Given the description of an element on the screen output the (x, y) to click on. 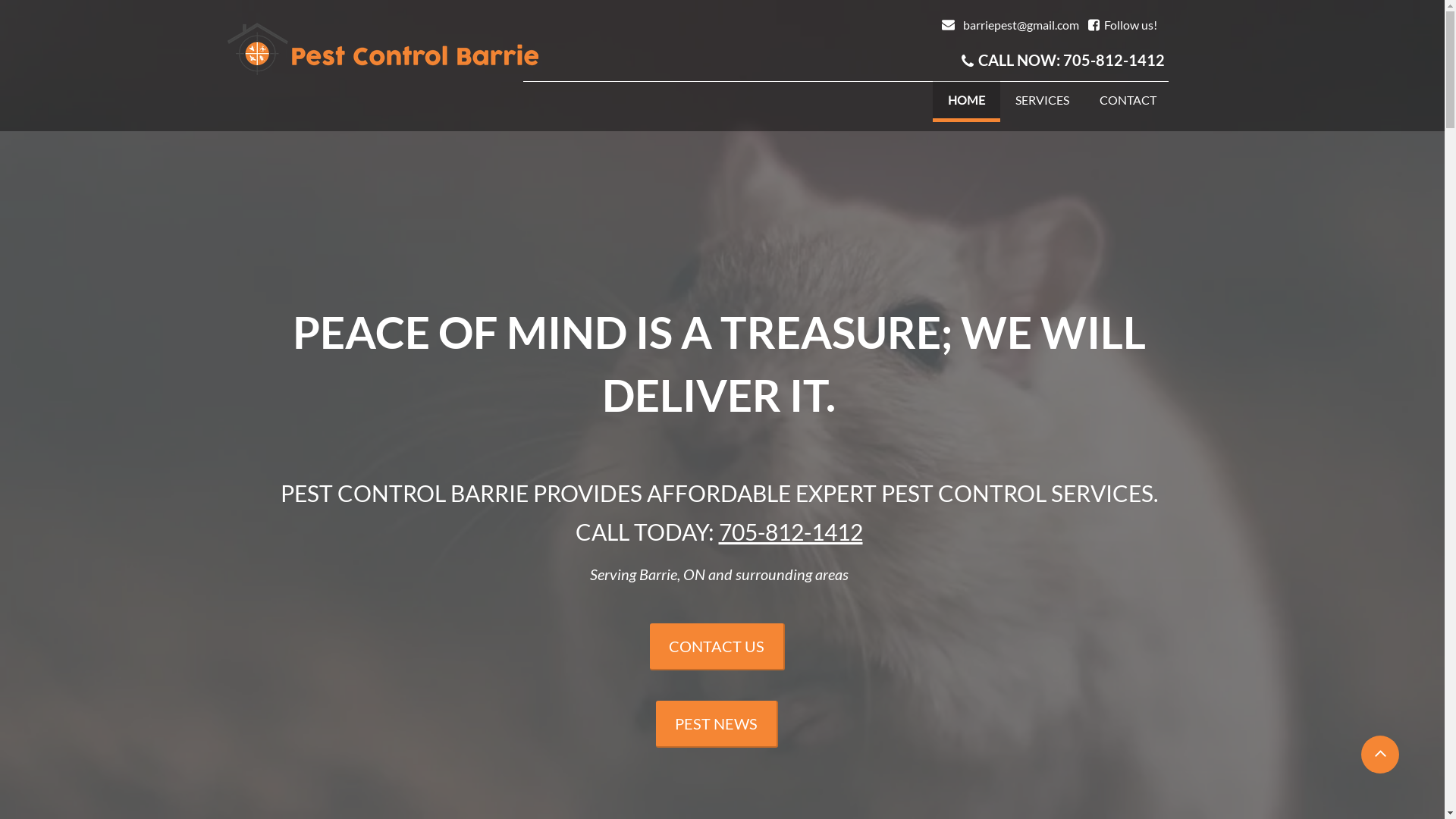
705-812-1412 Element type: text (1113, 59)
CONTACT Element type: text (1127, 99)
HOME Element type: text (966, 101)
705-812-1412 Element type: text (790, 531)
barriepest@gmail.com     Element type: text (1025, 24)
Follow us! Element type: text (1130, 24)
SERVICES Element type: text (1042, 99)
CONTACT US Element type: text (716, 646)
PEST NEWS Element type: text (716, 723)
